Given the description of an element on the screen output the (x, y) to click on. 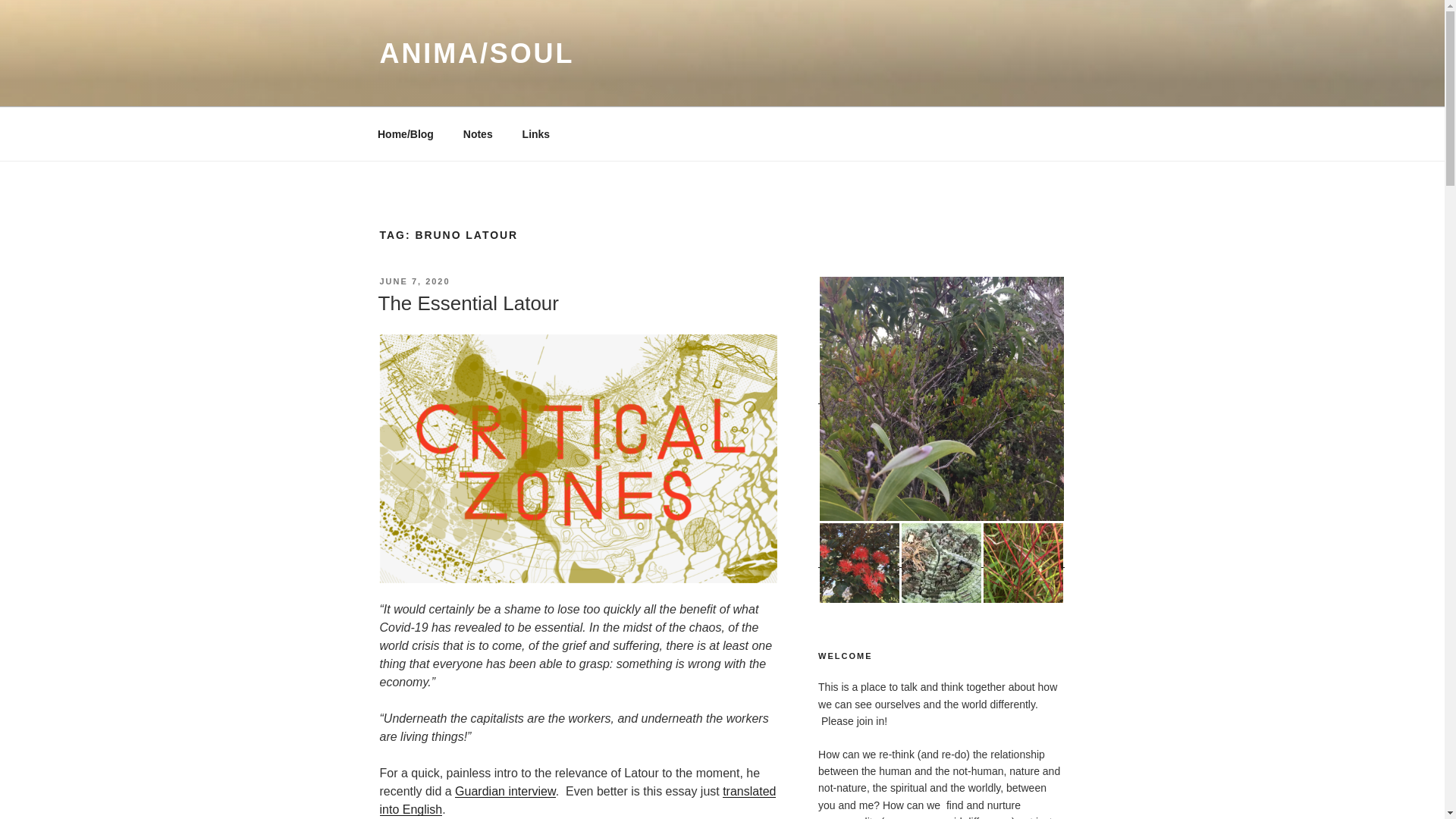
The Essential Latour (467, 302)
Page 1 (577, 709)
Guardian interview (505, 790)
Notes (477, 133)
Links (535, 133)
JUNE 7, 2020 (413, 280)
Page 8 (577, 728)
translated into English (577, 799)
